Given the description of an element on the screen output the (x, y) to click on. 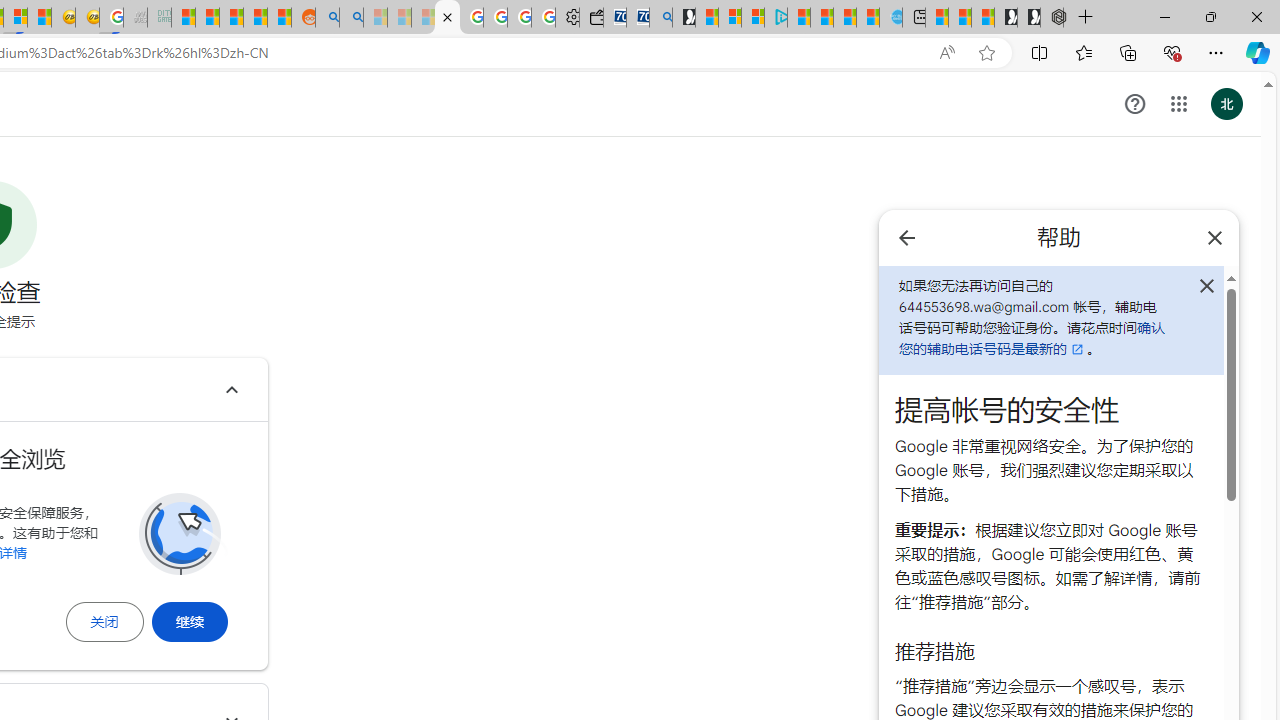
Utah sues federal government - Search (351, 17)
Class: gb_E (1178, 103)
